Given the description of an element on the screen output the (x, y) to click on. 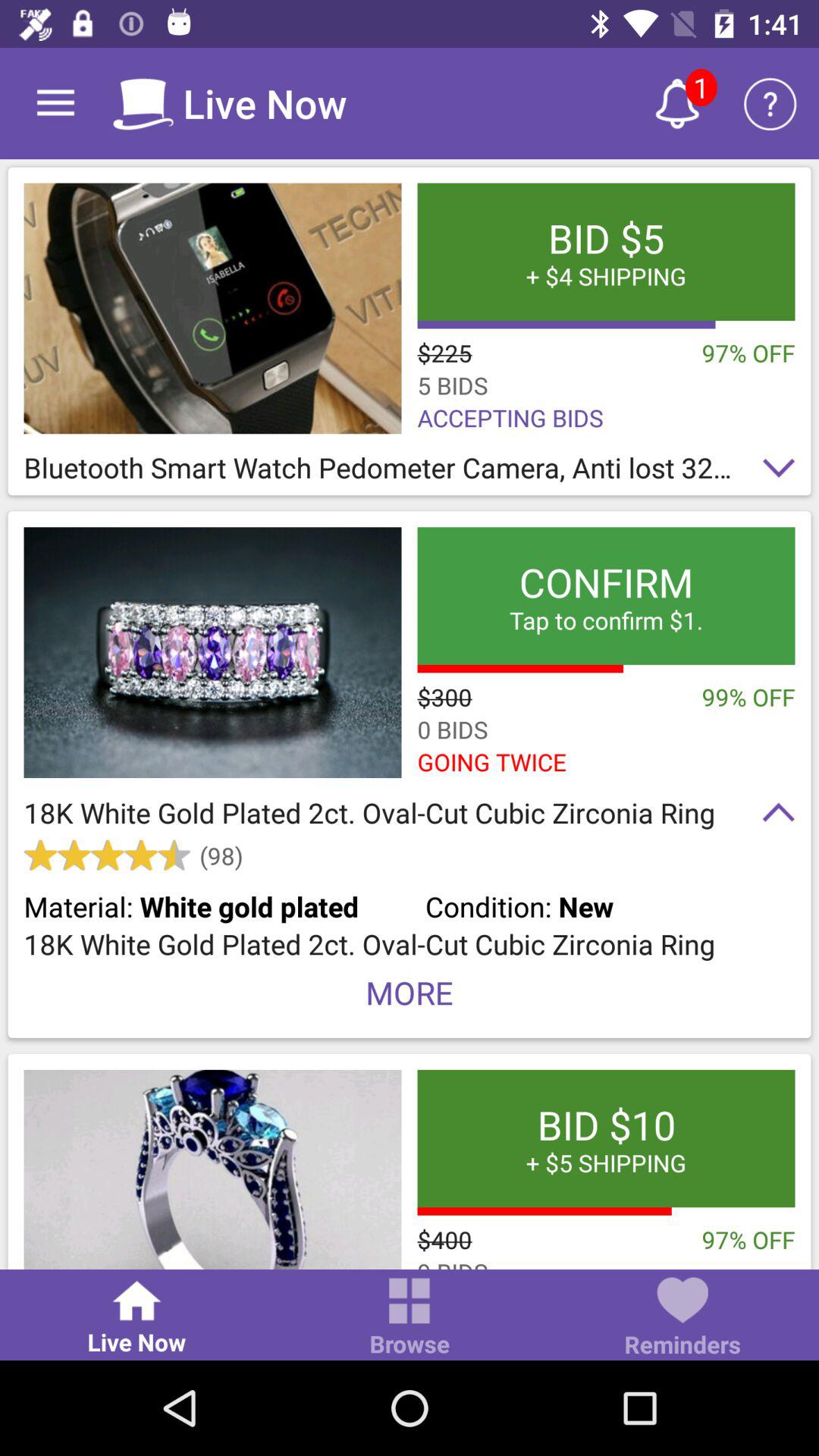
open the picture of the ring (212, 1169)
